Given the description of an element on the screen output the (x, y) to click on. 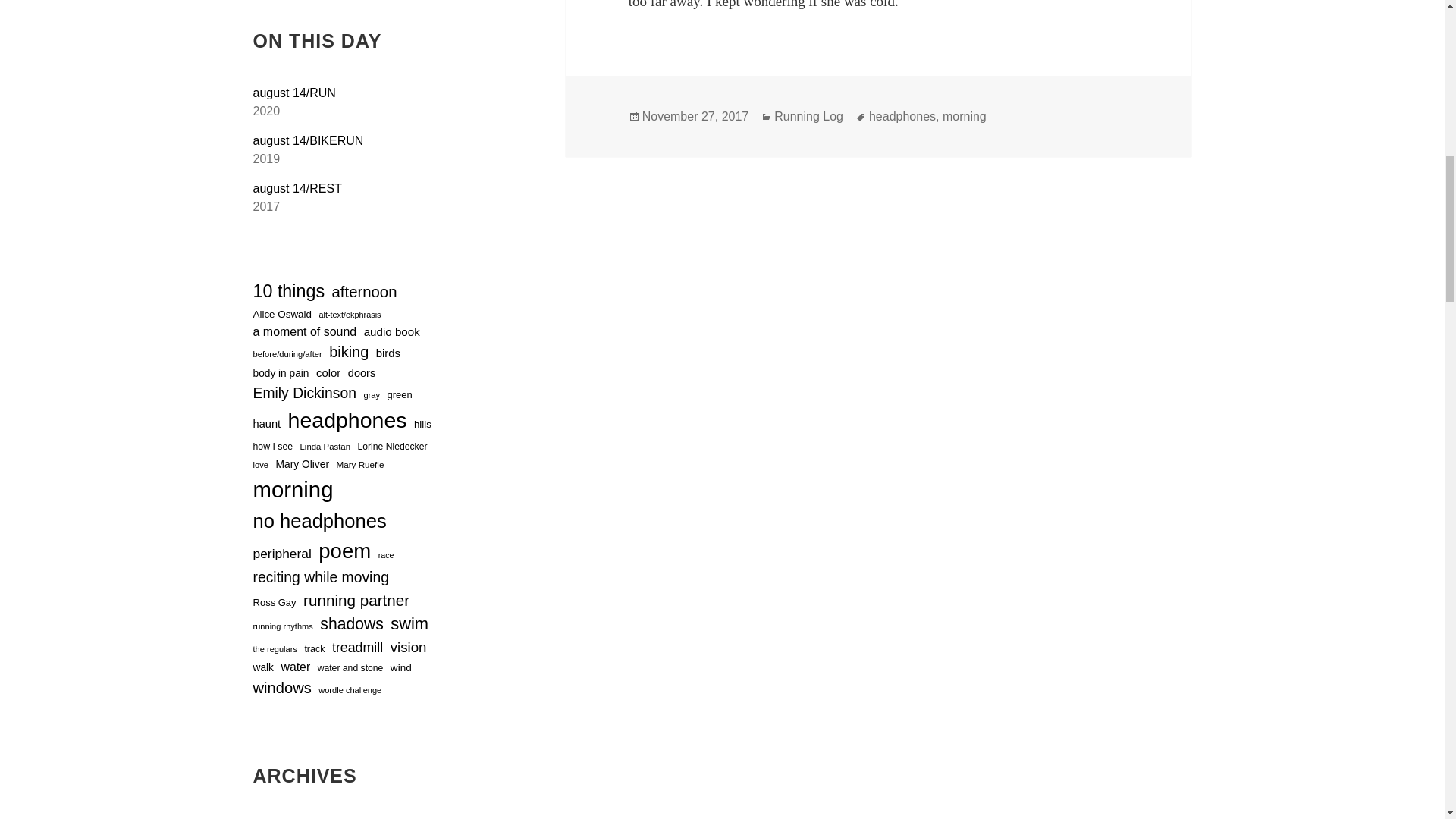
Alice Oswald (283, 314)
a moment of sound (304, 331)
body in pain (280, 374)
biking (348, 352)
color (327, 372)
audio book (392, 332)
afternoon (364, 291)
doors (361, 373)
10 things (288, 291)
birds (387, 352)
